Given the description of an element on the screen output the (x, y) to click on. 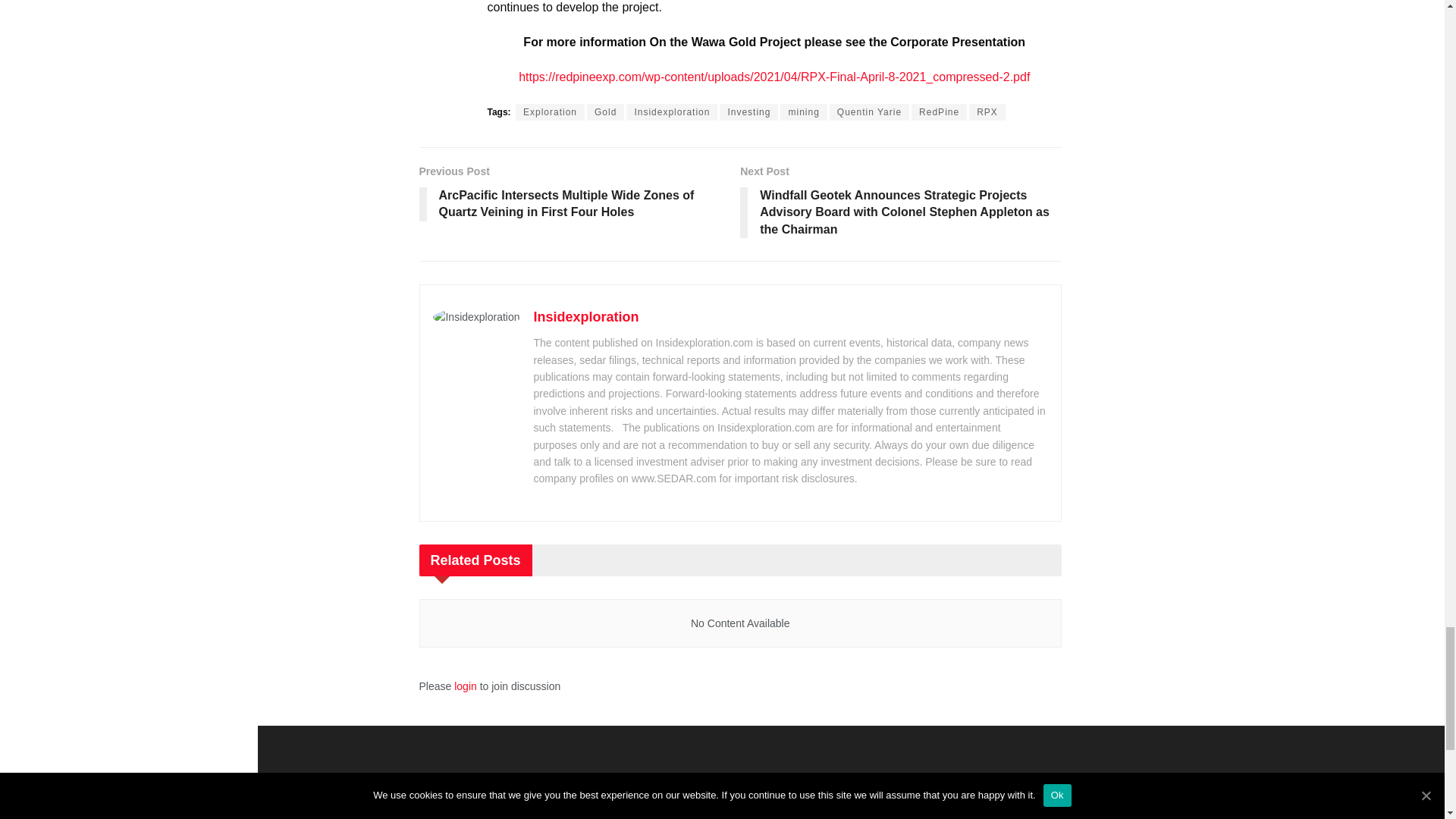
Twitter (832, 811)
Youtube (869, 811)
LinkedIn (904, 811)
Facebook (797, 811)
